Given the description of an element on the screen output the (x, y) to click on. 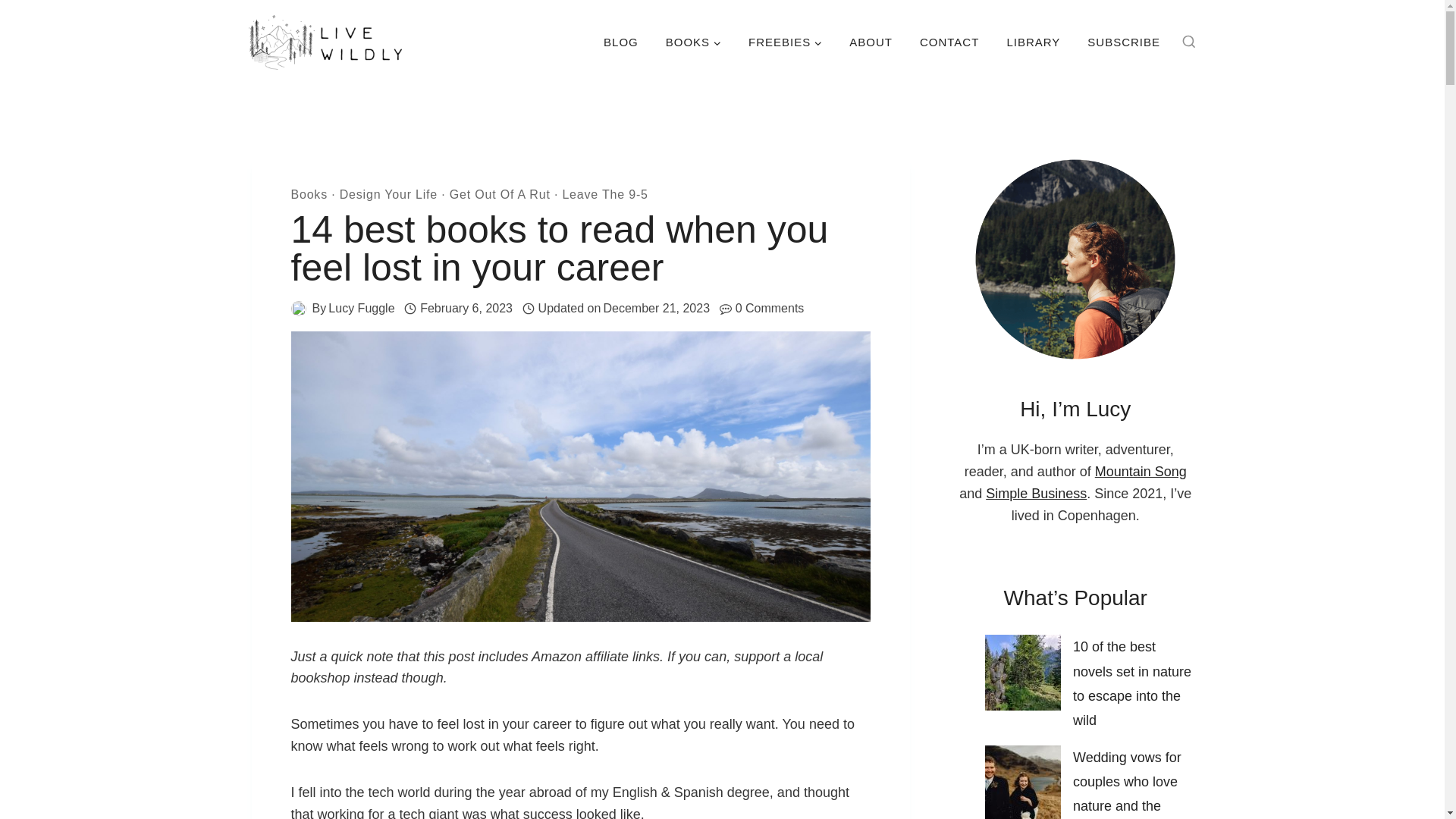
Get Out Of A Rut (499, 194)
ABOUT (870, 42)
SUBSCRIBE (1123, 42)
FREEBIES (785, 42)
BOOKS (693, 42)
Lucy Fuggle (361, 308)
0 Comments (770, 308)
Leave The 9-5 (604, 194)
BLOG (620, 42)
LIBRARY (1033, 42)
0 Comments (770, 308)
Books (309, 194)
CONTACT (948, 42)
Design Your Life (388, 194)
